Given the description of an element on the screen output the (x, y) to click on. 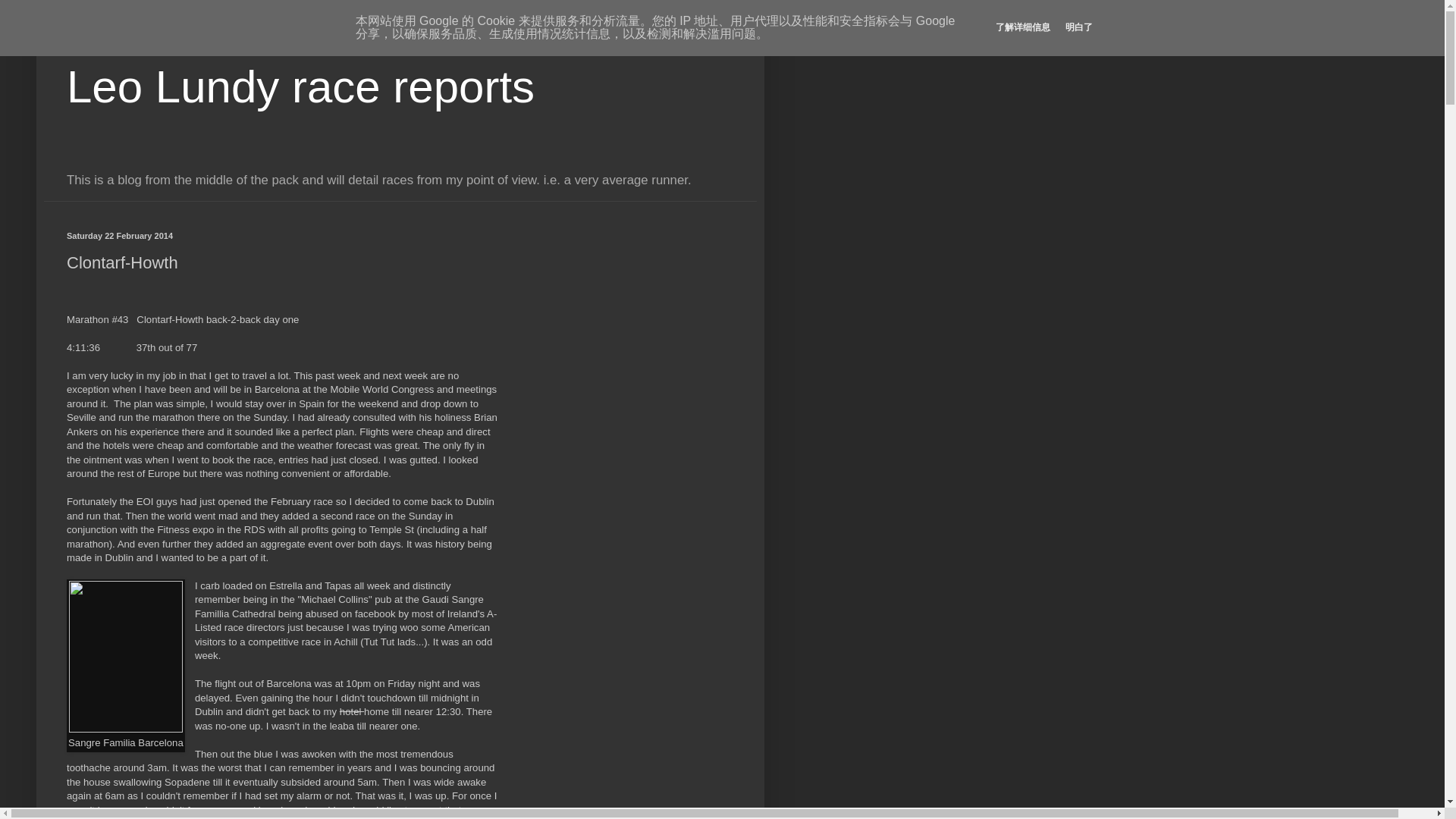
Leo Lundy race reports (300, 86)
